Given the description of an element on the screen output the (x, y) to click on. 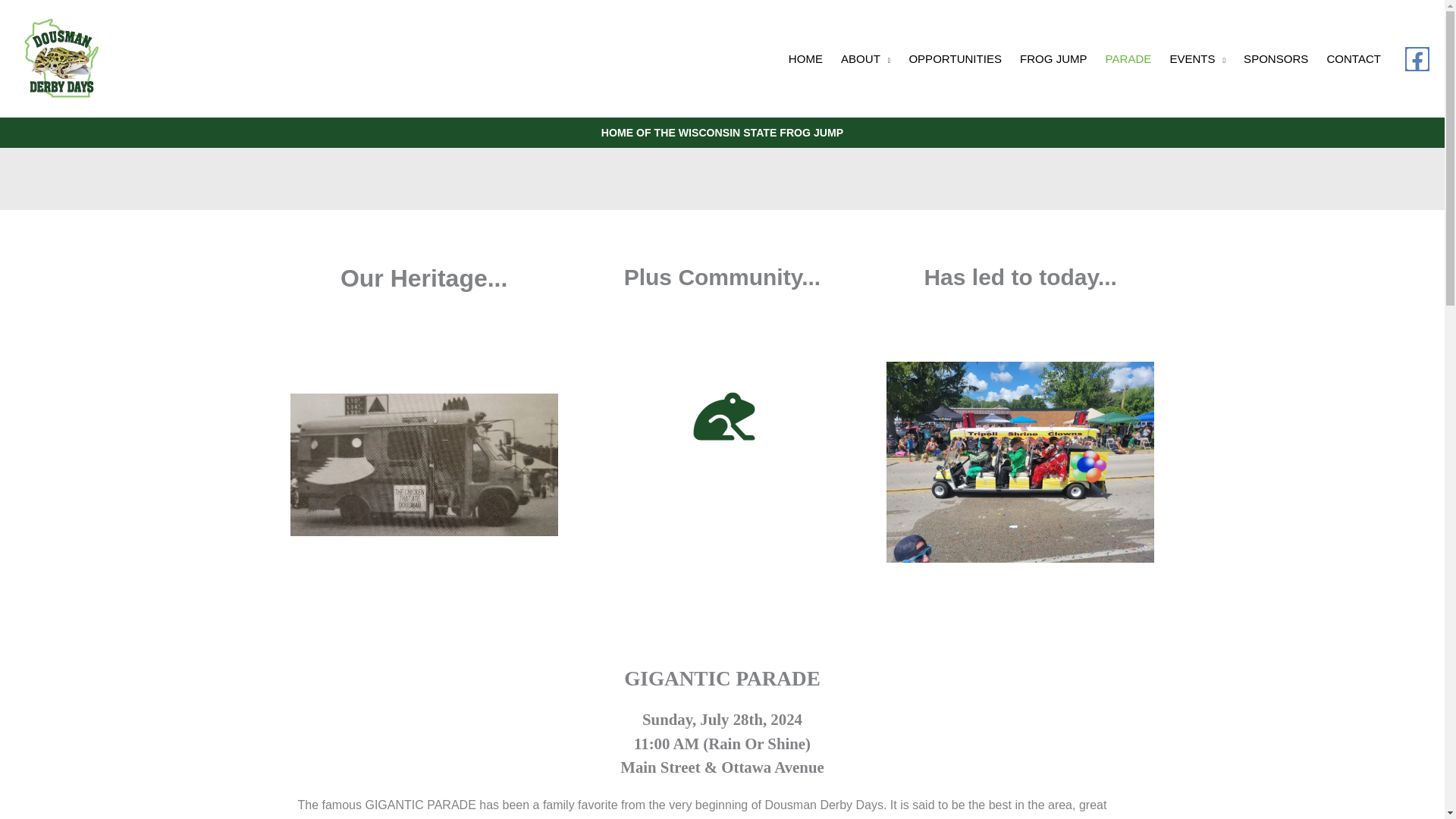
ABOUT (865, 57)
EVENTS (1197, 57)
HOME (804, 57)
Frog (722, 417)
PARADE (1128, 57)
OPPORTUNITIES (954, 57)
SPONSORS (1275, 57)
CONTACT (1353, 57)
FROG JUMP (1053, 57)
